Given the description of an element on the screen output the (x, y) to click on. 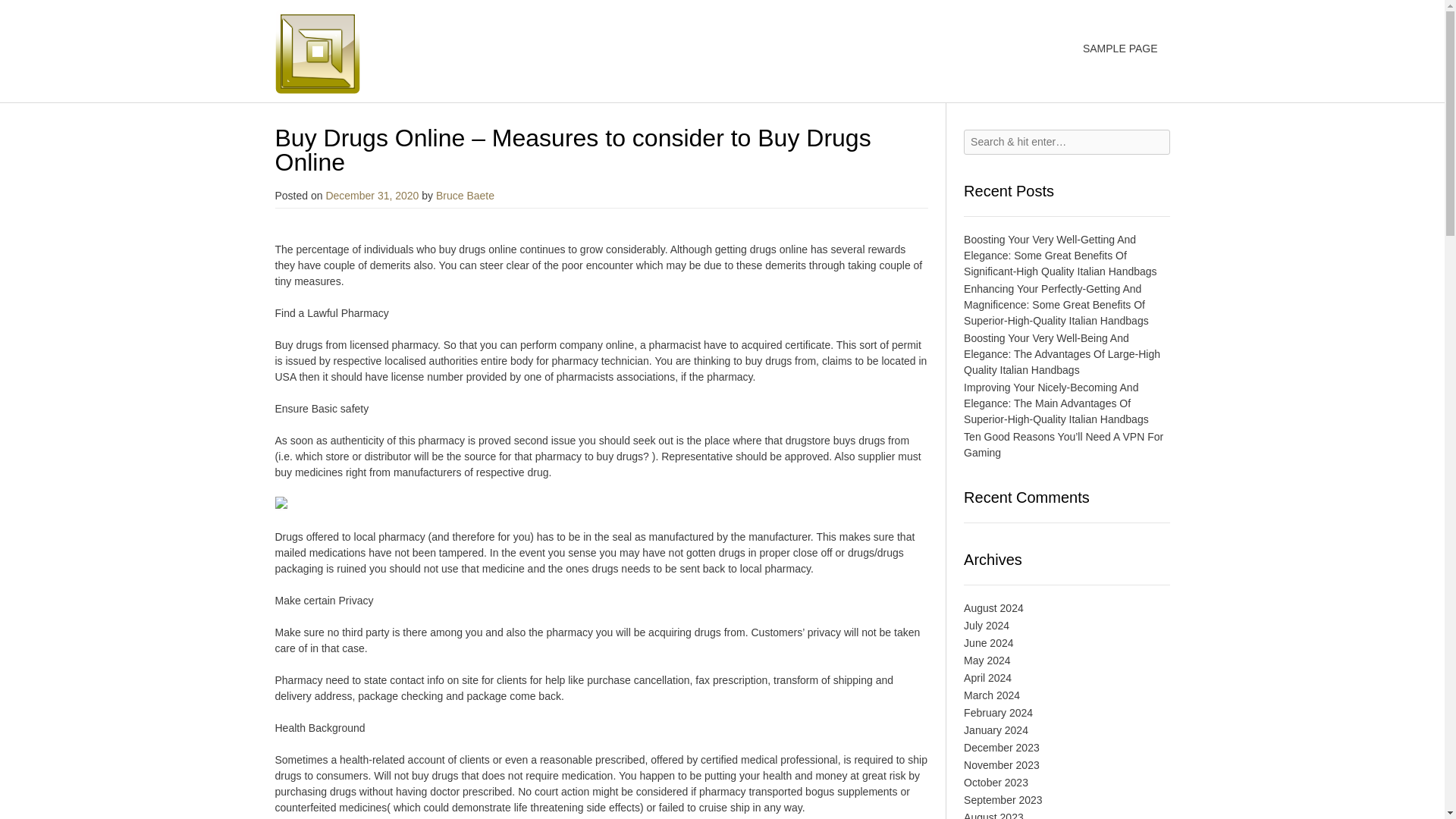
February 2024 (997, 712)
July 2024 (986, 625)
May 2024 (986, 660)
October 2023 (995, 782)
March 2024 (991, 695)
Bruce Baete (465, 195)
